Given the description of an element on the screen output the (x, y) to click on. 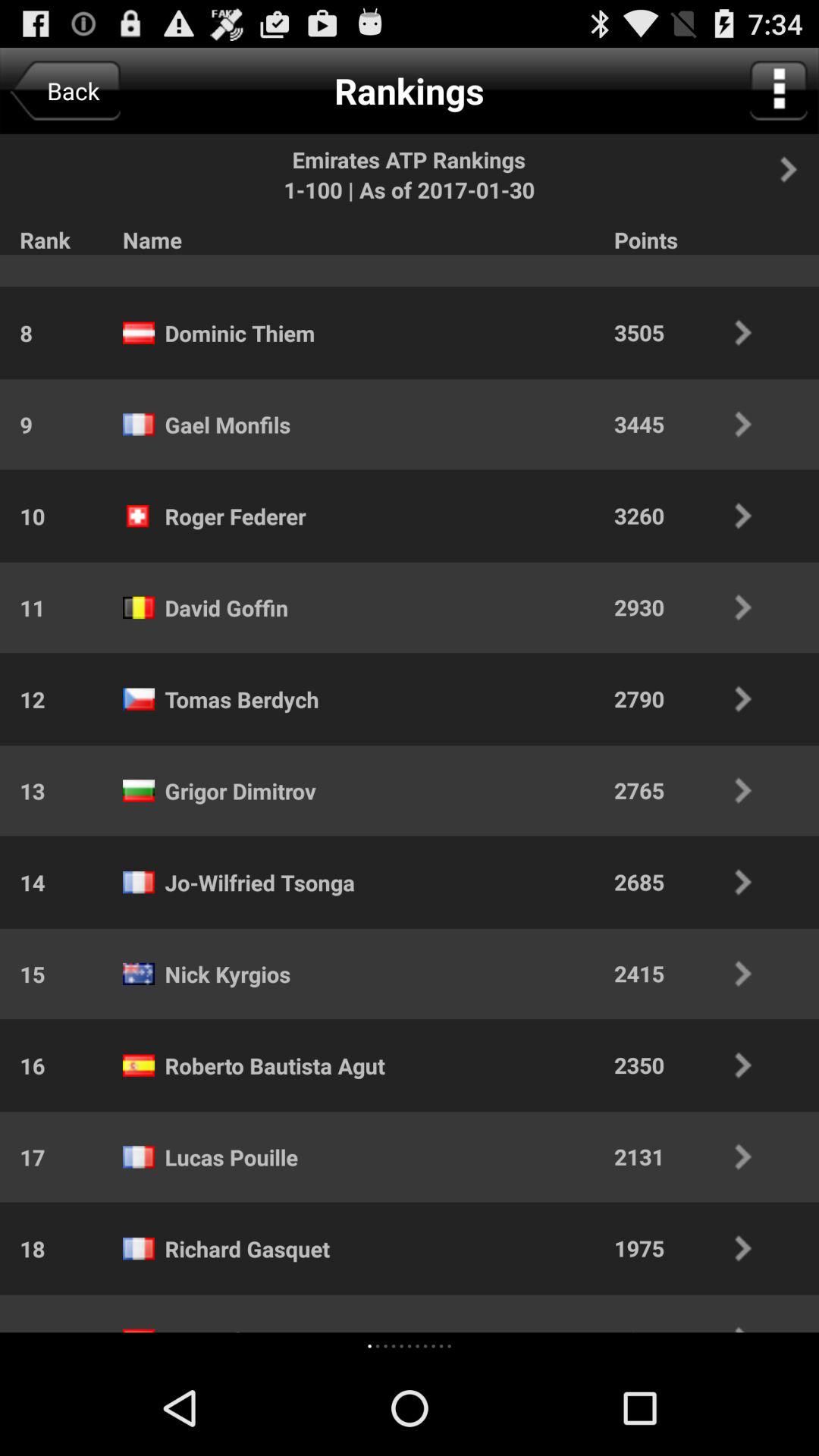
choose item below the 2415 item (693, 1064)
